Given the description of an element on the screen output the (x, y) to click on. 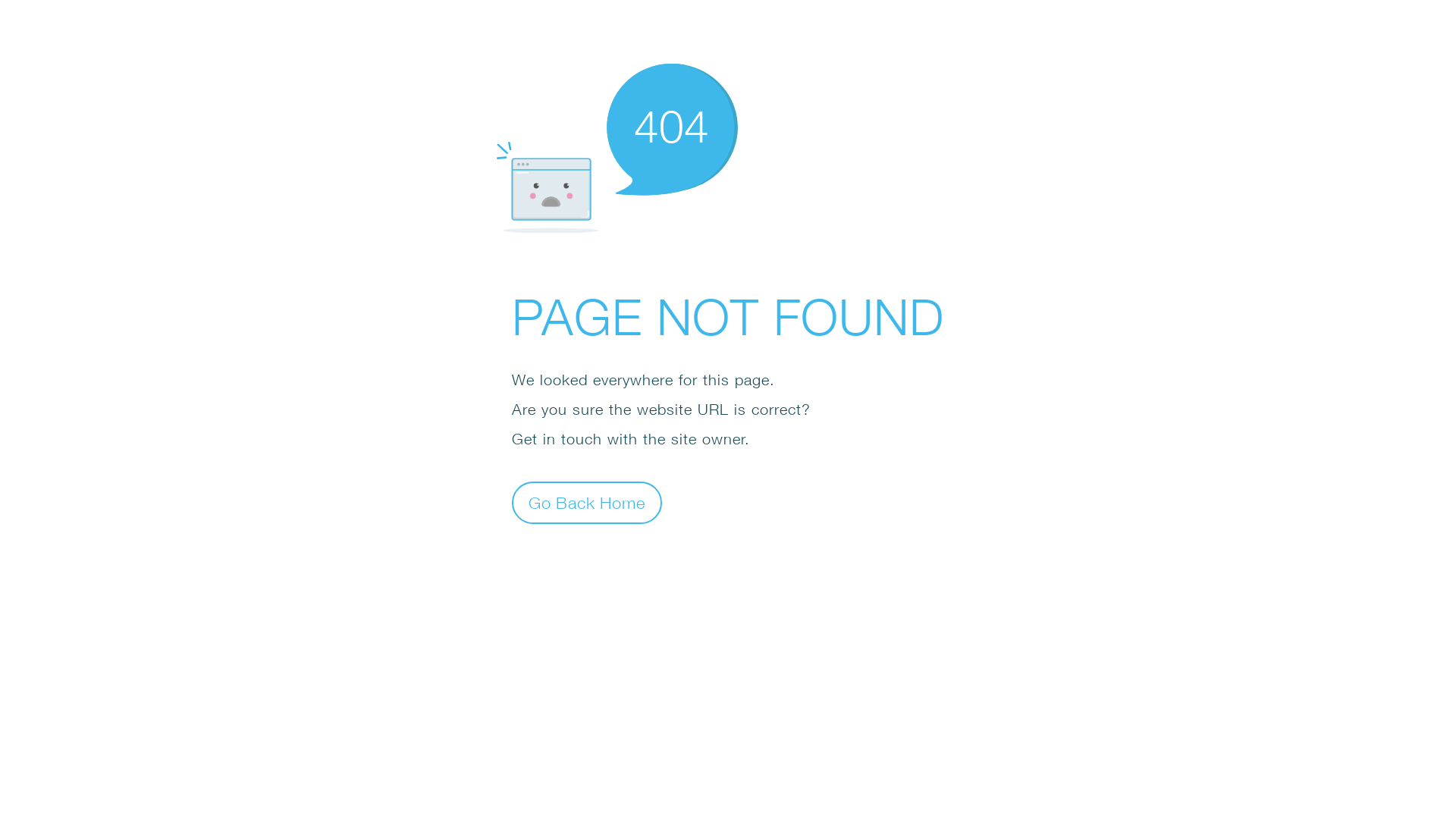
Go Back Home Element type: text (586, 502)
